Given the description of an element on the screen output the (x, y) to click on. 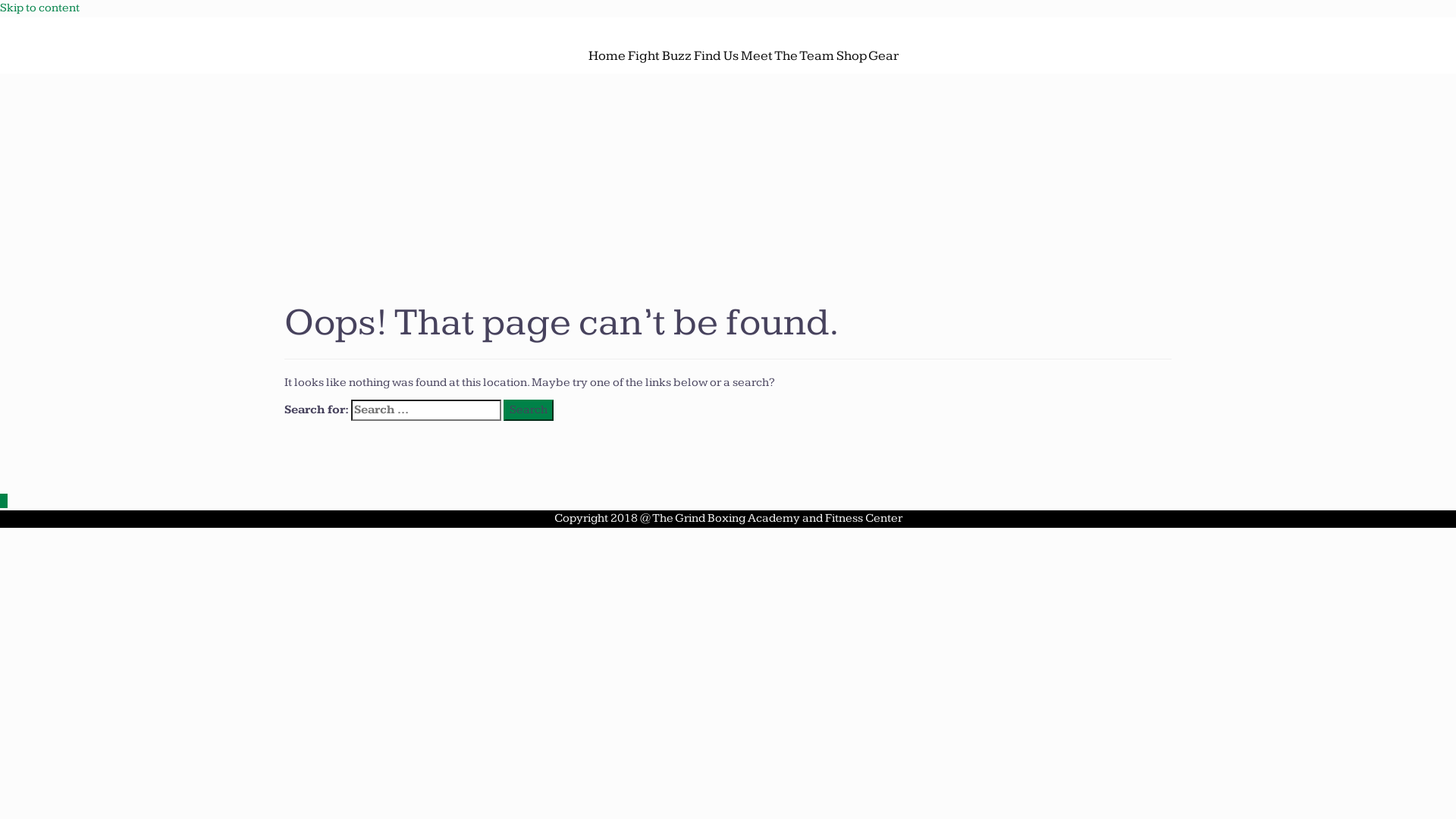
Skip to content Element type: text (39, 7)
Search Element type: text (528, 410)
Find Us Element type: text (715, 55)
Fight Buzz Element type: text (659, 55)
Meet The Team Element type: text (786, 55)
Copyright 2018 @ The Grind Boxing Academy and Fitness Center Element type: text (727, 518)
Home Element type: text (606, 55)
Shop Gear Element type: text (866, 55)
